Given the description of an element on the screen output the (x, y) to click on. 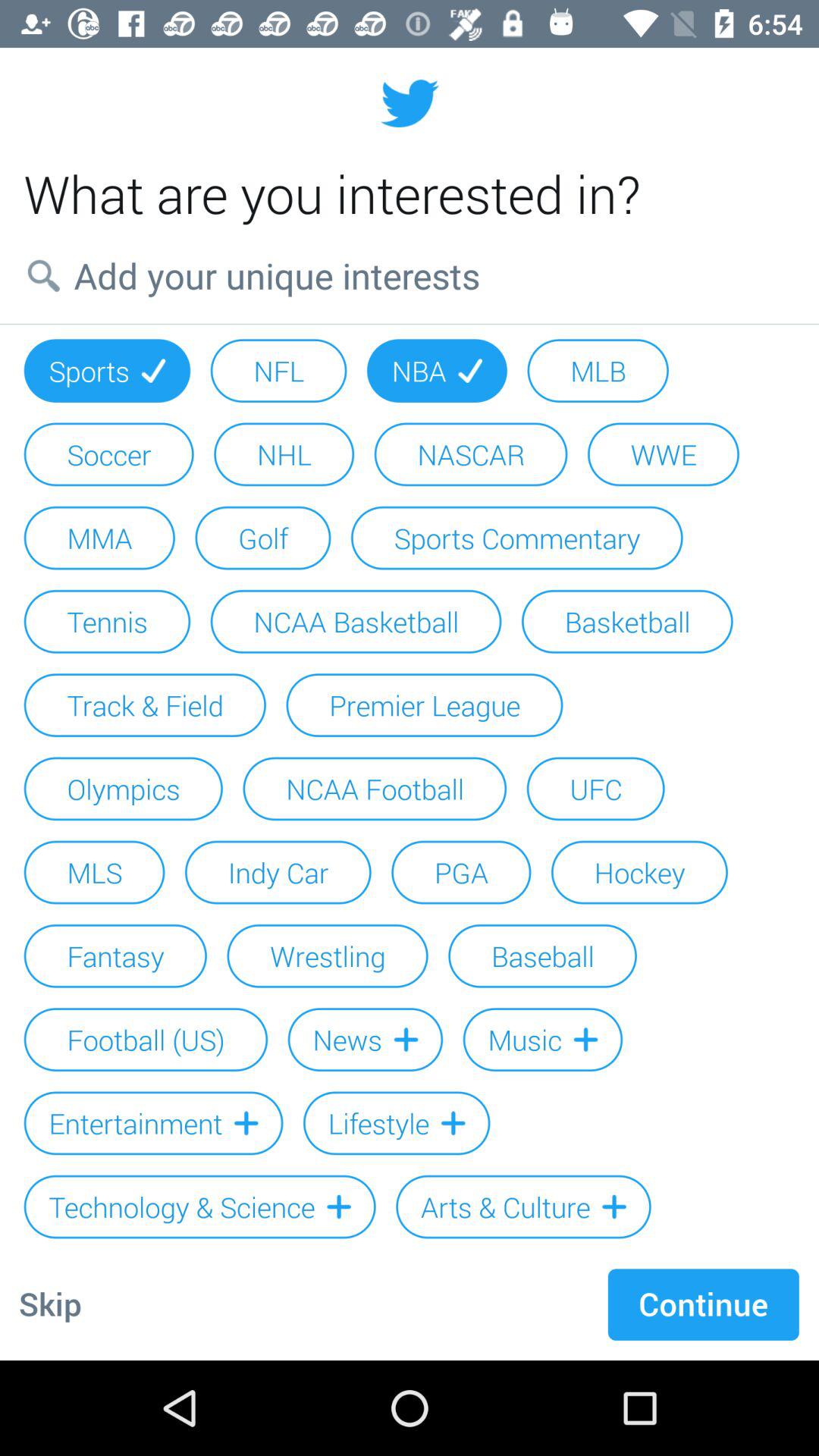
tap the icon below technology & science item (49, 1304)
